Given the description of an element on the screen output the (x, y) to click on. 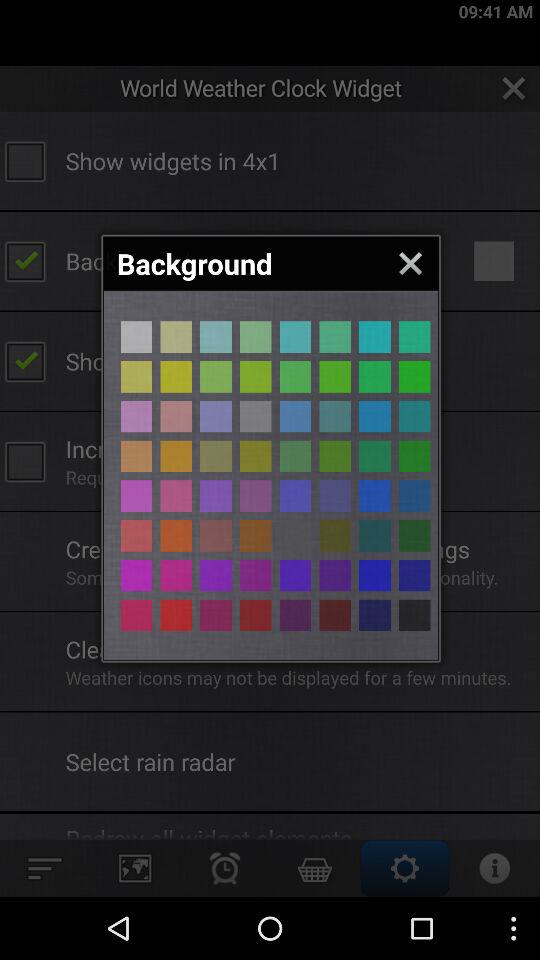
select aqua background color (374, 336)
